Given the description of an element on the screen output the (x, y) to click on. 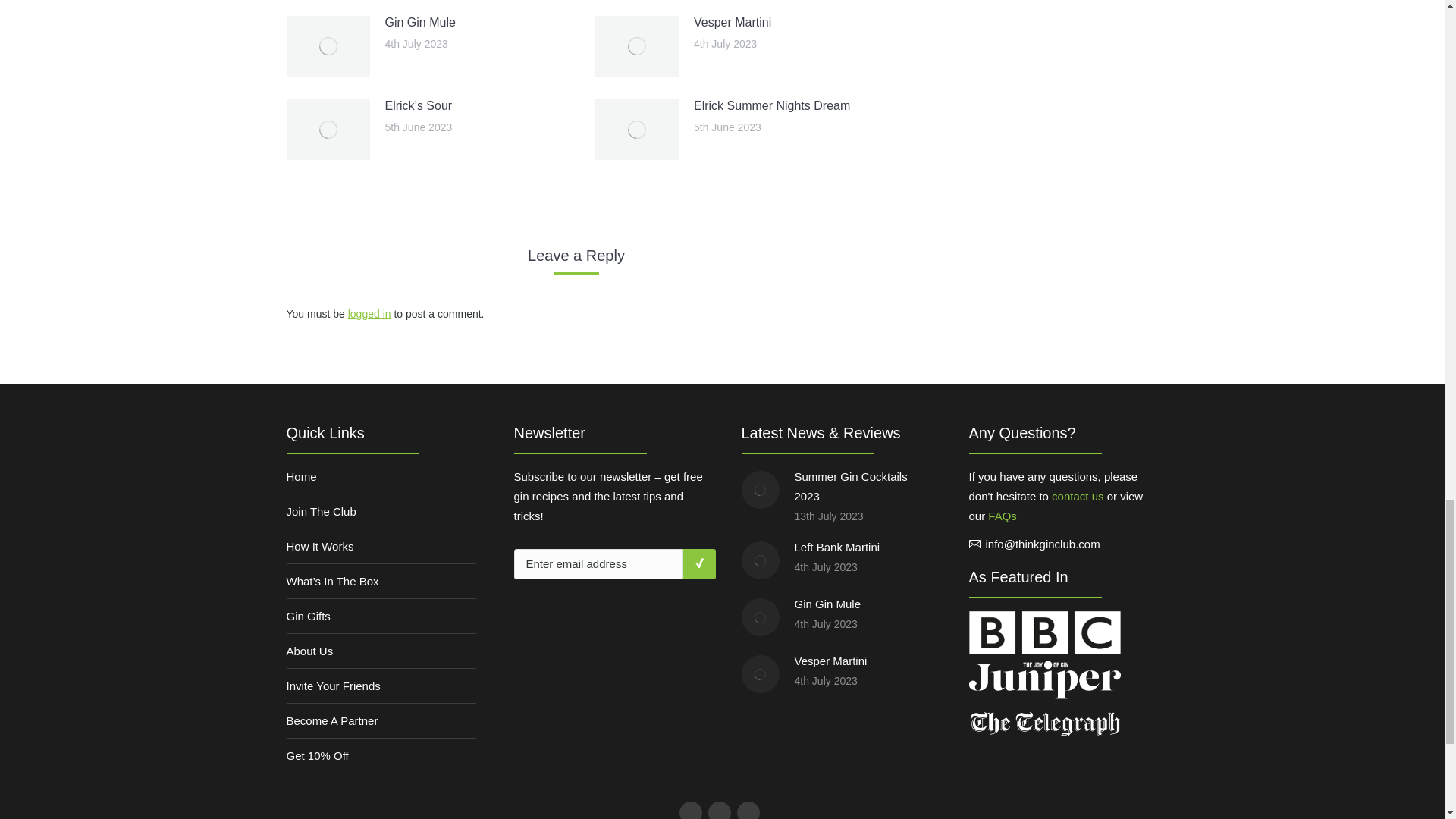
Instagram (745, 810)
Facebook (688, 810)
Twitter (716, 810)
